Given the description of an element on the screen output the (x, y) to click on. 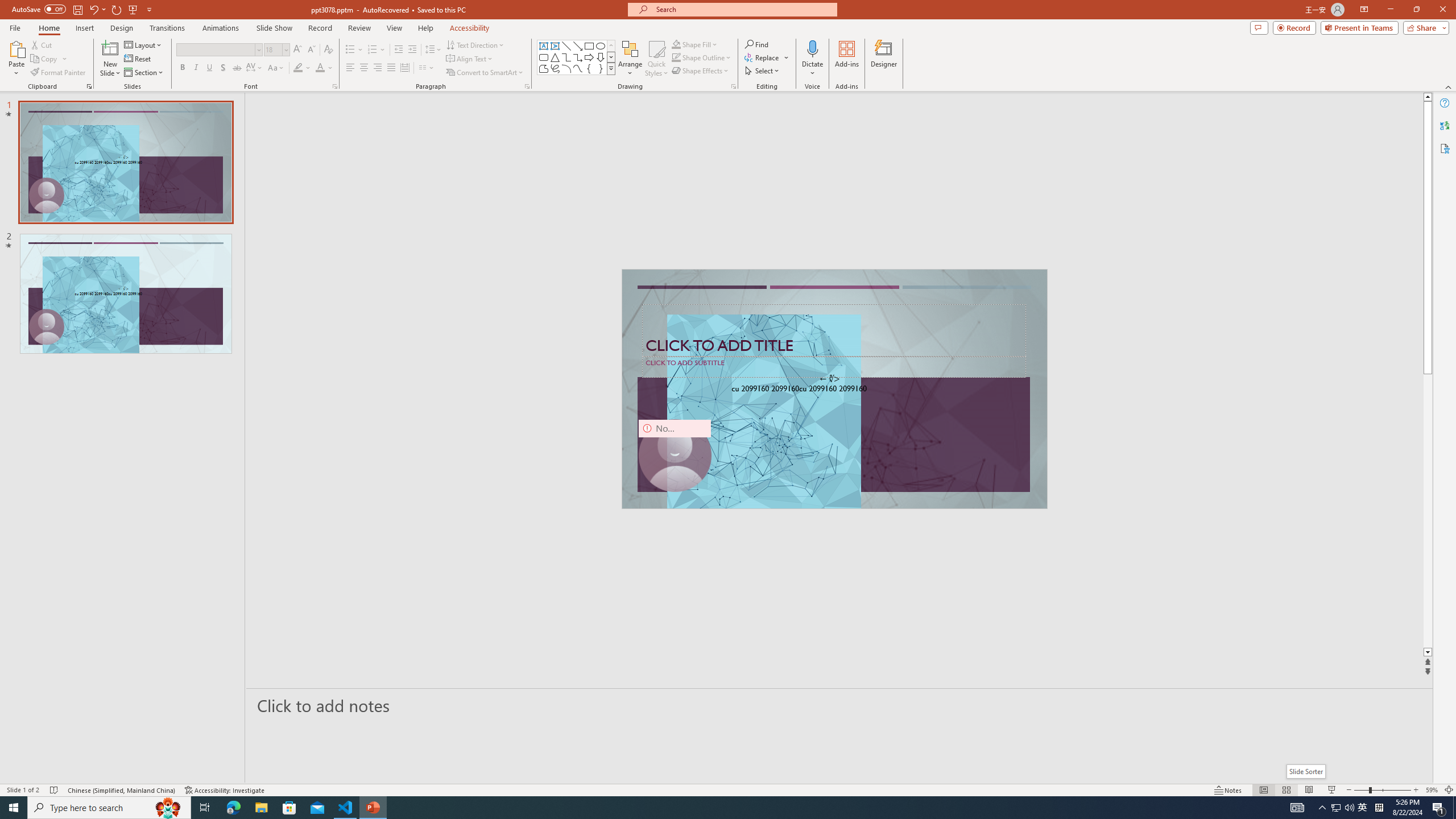
TextBox 7 (829, 378)
